Given the description of an element on the screen output the (x, y) to click on. 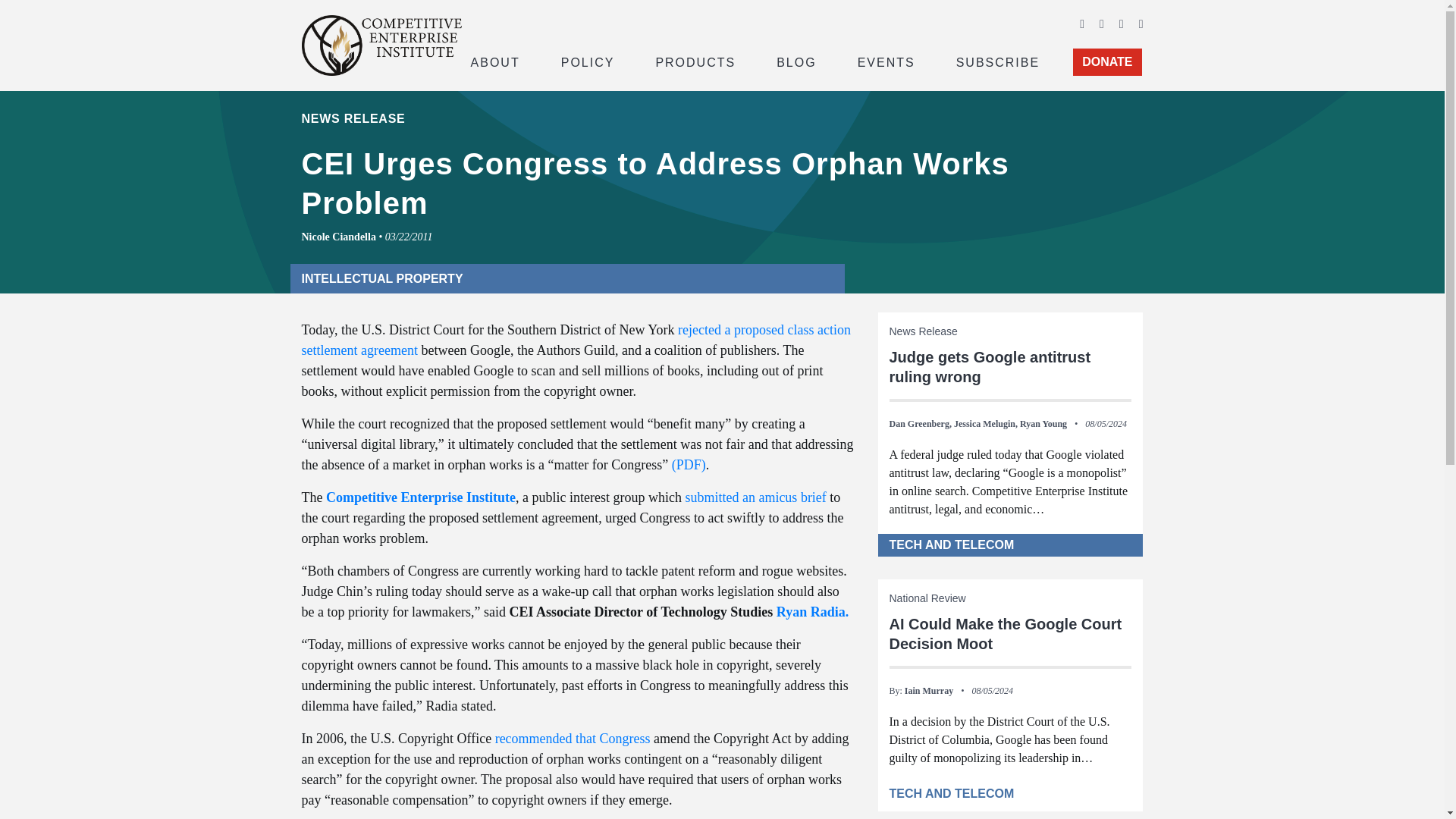
EVENTS (886, 61)
POLICY (588, 61)
PRODUCTS (694, 61)
ABOUT (495, 61)
BLOG (796, 61)
SUBSCRIBE (997, 61)
DONATE (1107, 62)
